Given the description of an element on the screen output the (x, y) to click on. 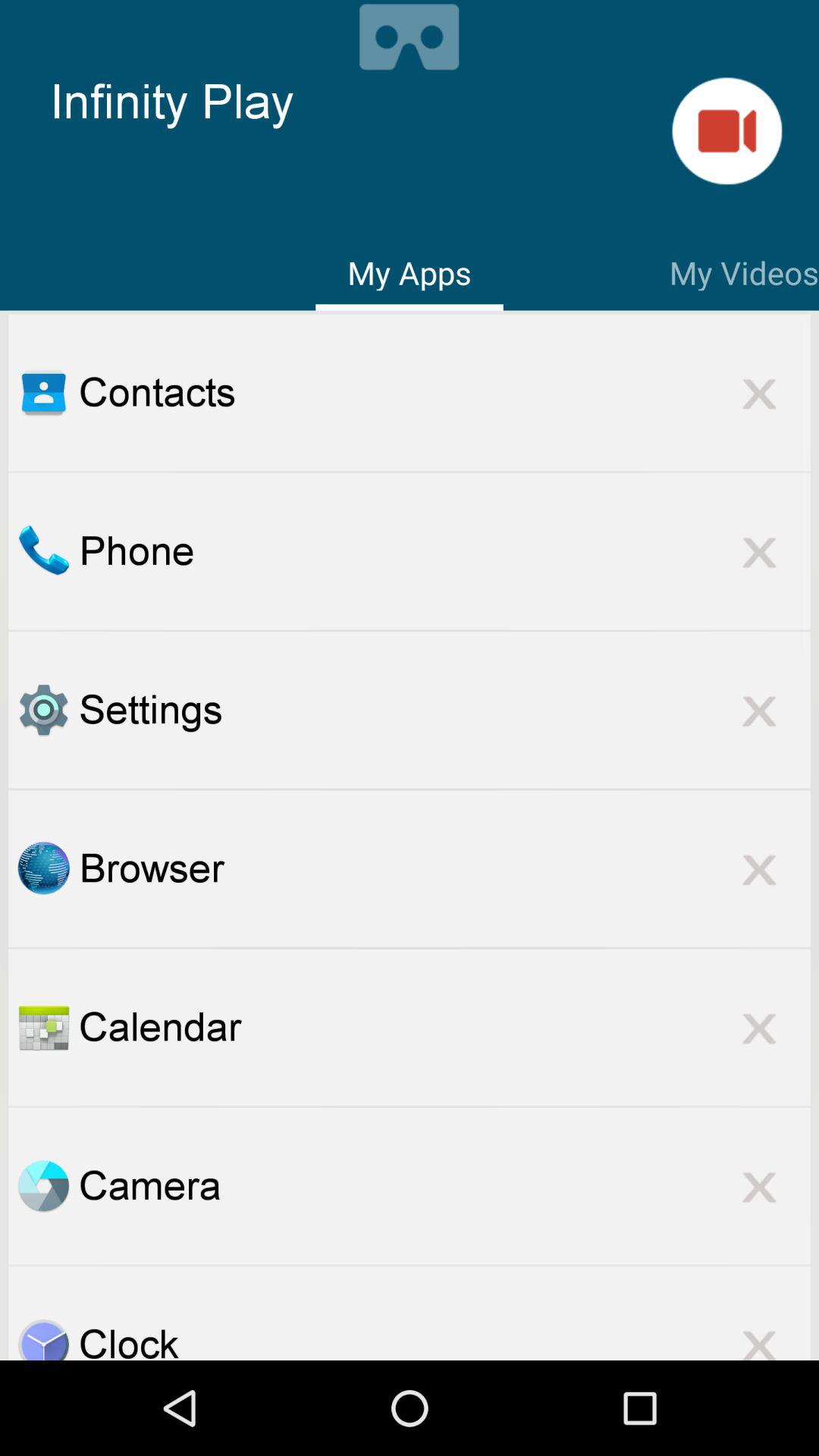
toggle calendar option (43, 1026)
